Given the description of an element on the screen output the (x, y) to click on. 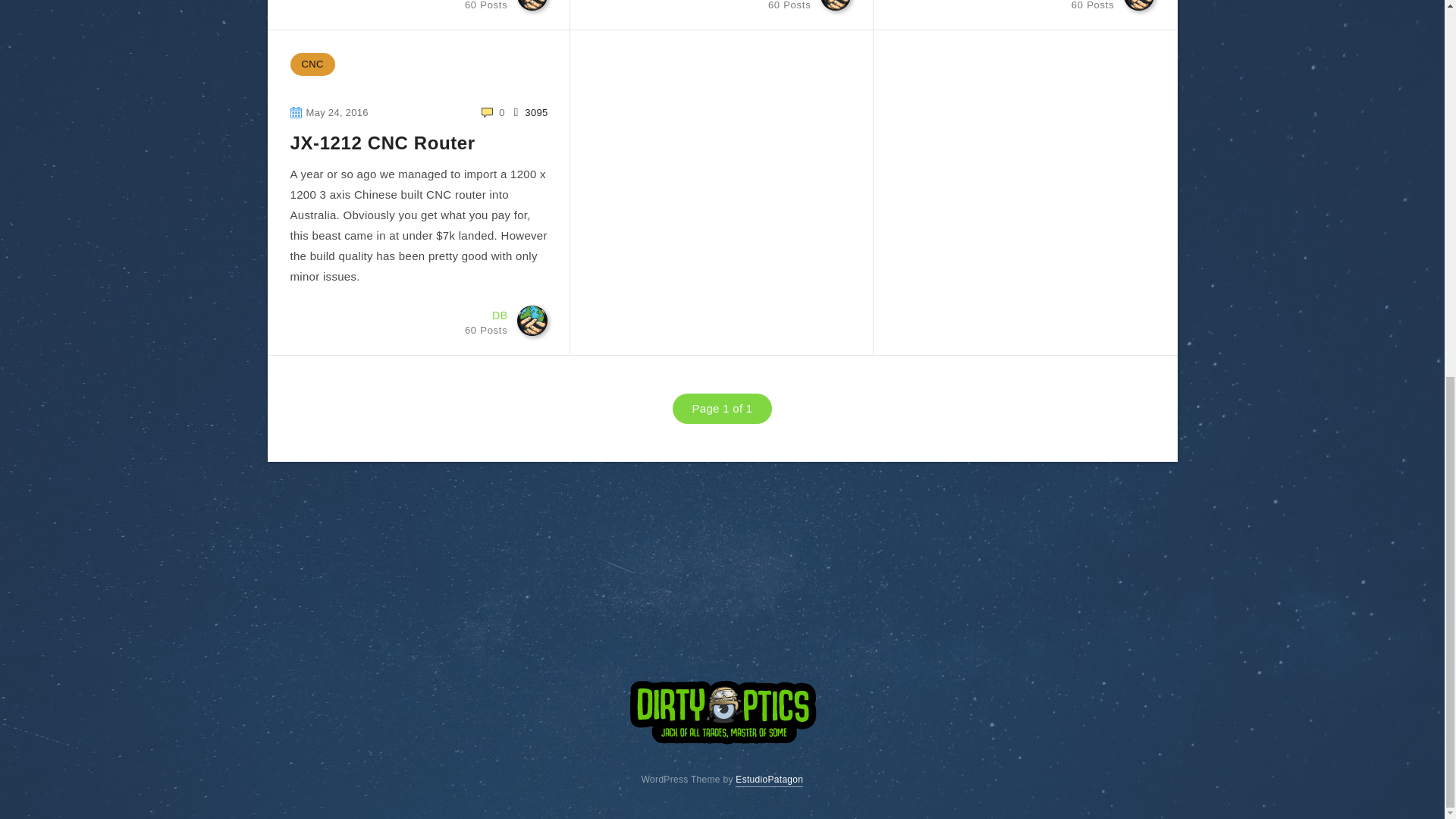
DB (488, 5)
JX-1212 CNC Router (381, 144)
DB (488, 5)
Powered with Reco (1096, 5)
0 (488, 319)
3095 (1096, 5)
CNC (769, 779)
DB (792, 5)
DB (492, 112)
